Given the description of an element on the screen output the (x, y) to click on. 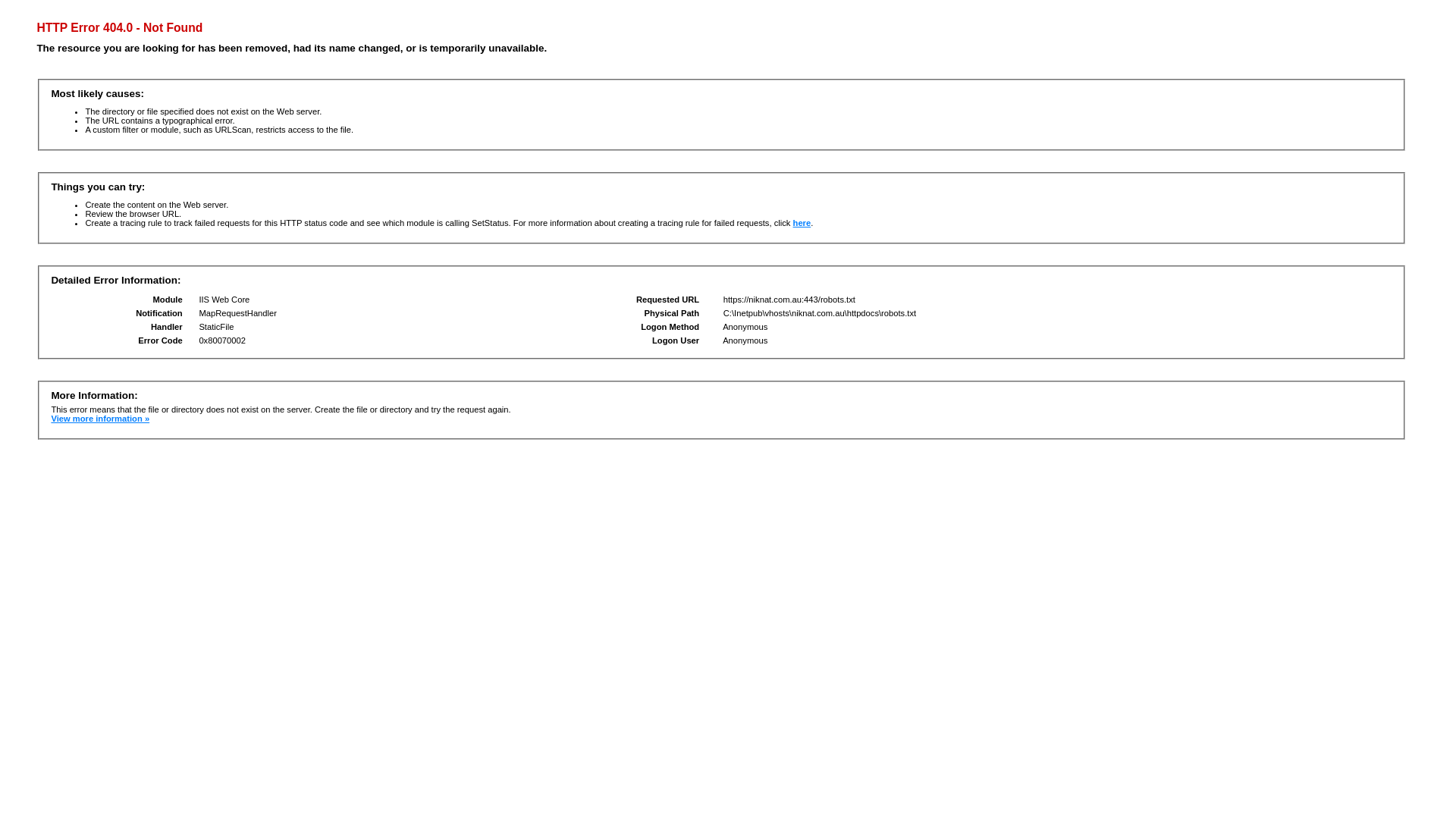
here Element type: text (802, 222)
